Given the description of an element on the screen output the (x, y) to click on. 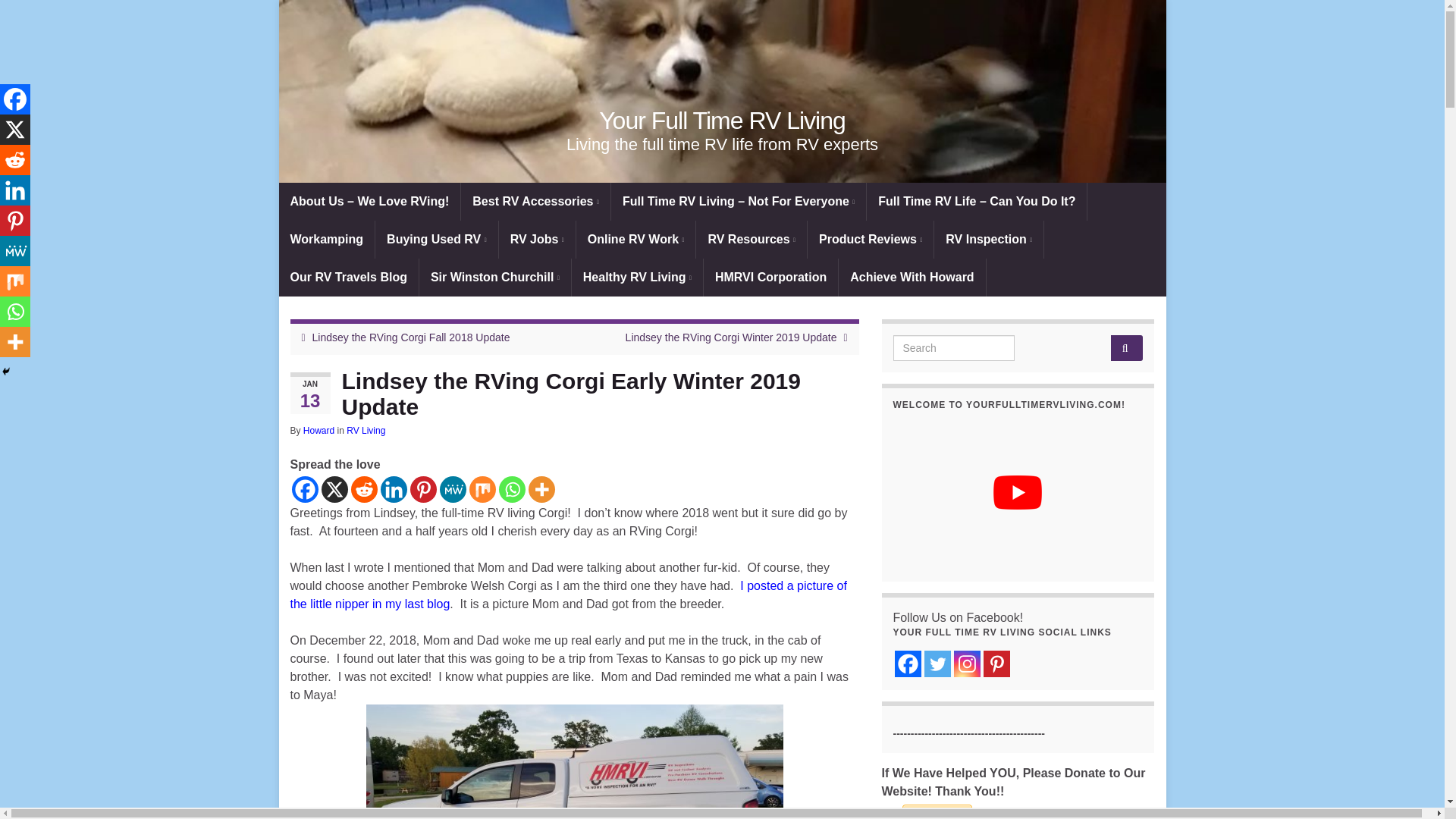
Linkedin (393, 488)
Online RV Work (635, 239)
Buying Used RV (436, 239)
Facebook (15, 99)
X (15, 129)
Go back to the front page (721, 120)
X (334, 488)
Whatsapp (512, 488)
Facebook (304, 488)
Your Full Time RV Living (721, 120)
